Given the description of an element on the screen output the (x, y) to click on. 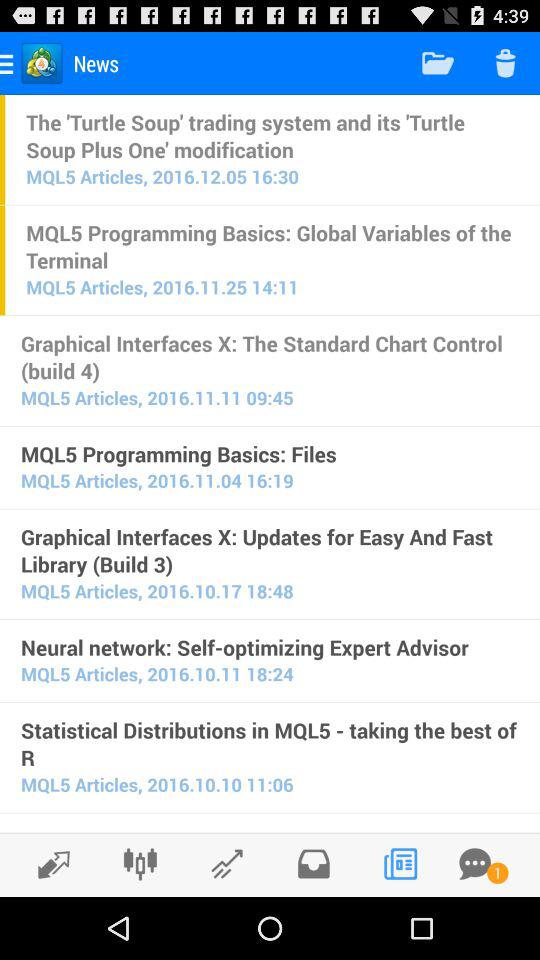
jump to statistical distributions in icon (270, 743)
